Given the description of an element on the screen output the (x, y) to click on. 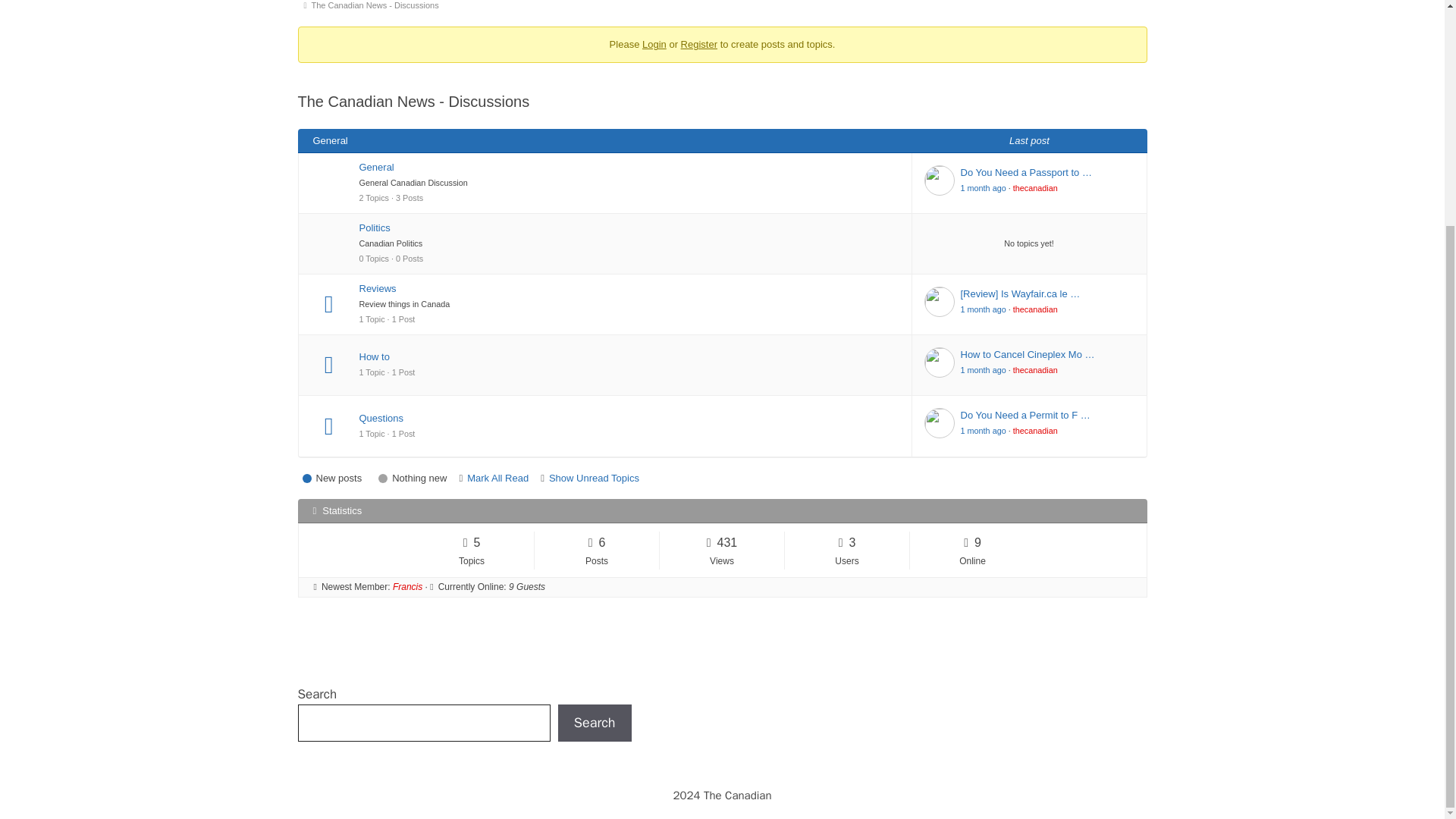
1 month ago (982, 308)
1 month ago (982, 187)
thecanadian (1035, 187)
thecanadian (1035, 308)
How to (629, 356)
Politics (629, 227)
Register (699, 43)
Reviews (629, 288)
The Canadian News - Discussions (377, 7)
General (629, 167)
